Given the description of an element on the screen output the (x, y) to click on. 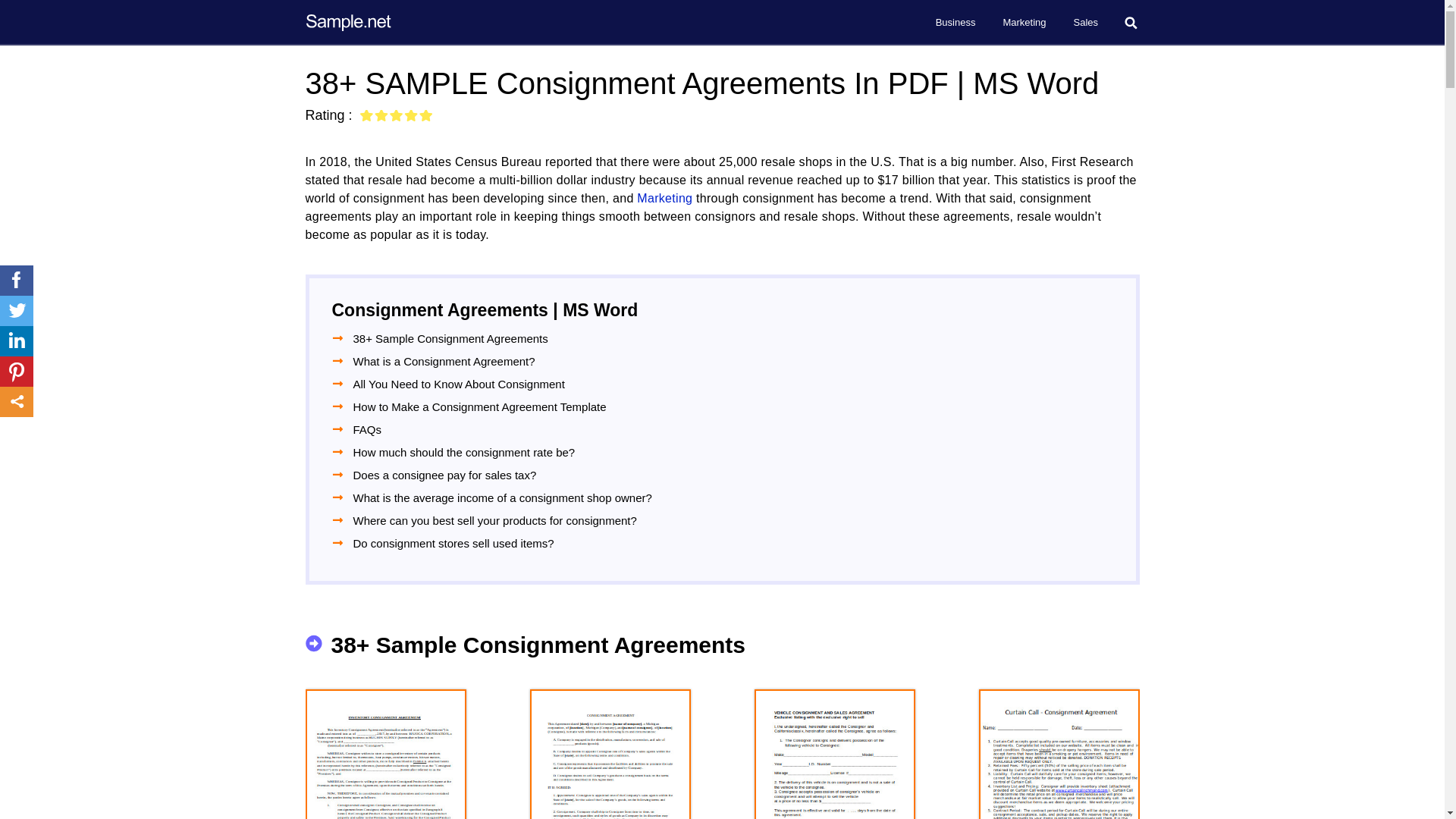
What is the average income of a consignment shop owner? (502, 497)
Sales (1085, 22)
Do consignment stores sell used items? (453, 542)
FAQs (367, 429)
Business (955, 22)
How much should the consignment rate be? (464, 452)
Marketing (665, 197)
How to Make a Consignment Agreement Template (480, 406)
Where can you best sell your products for consignment? (495, 520)
What is a Consignment Agreement? (444, 361)
Does a consignee pay for sales tax? (445, 475)
Marketing (1023, 22)
All You Need to Know About Consignment (458, 383)
